Given the description of an element on the screen output the (x, y) to click on. 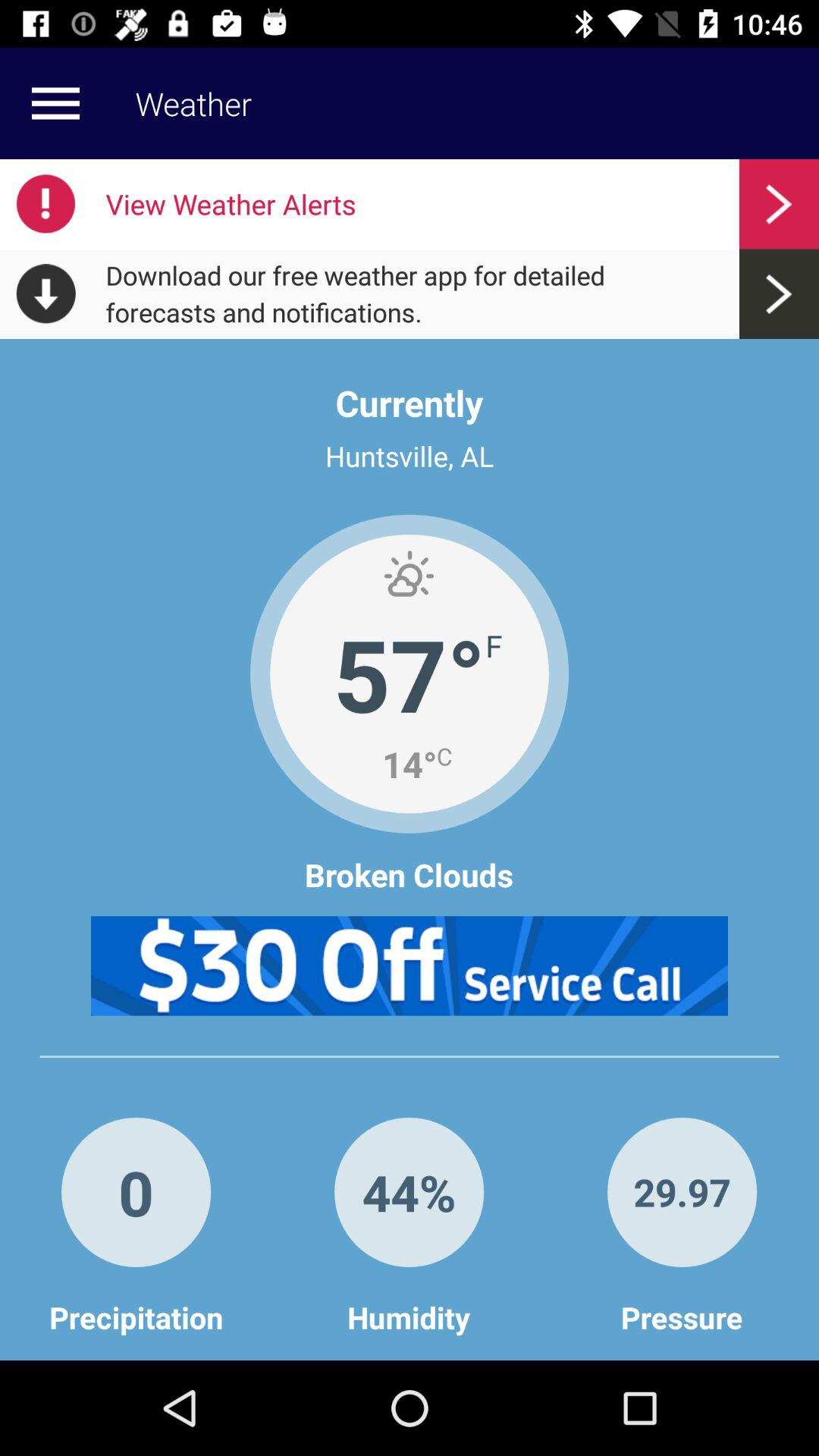
open advertisement (409, 965)
